Given the description of an element on the screen output the (x, y) to click on. 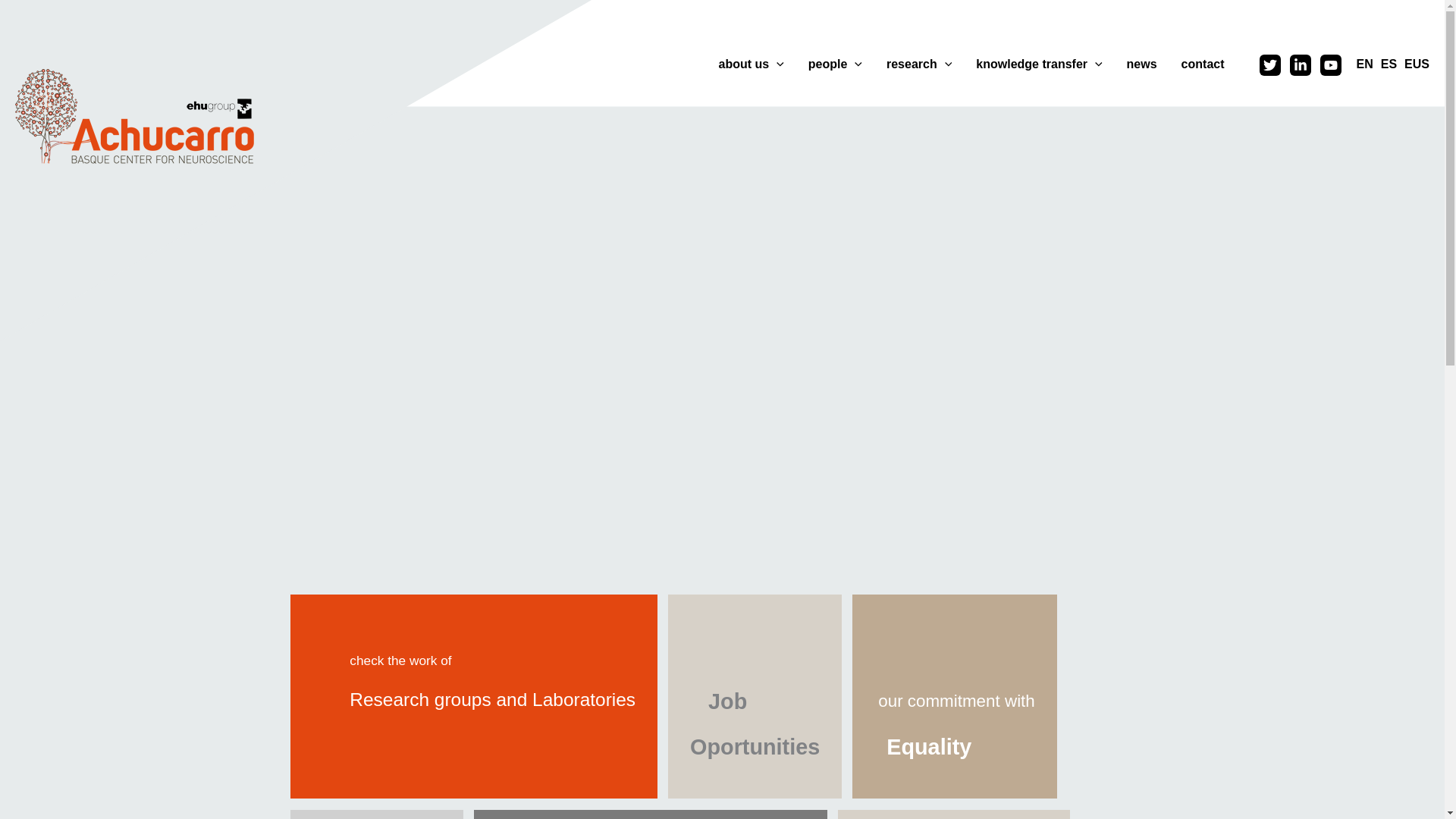
people (835, 63)
about us (751, 63)
research (919, 63)
